Given the description of an element on the screen output the (x, y) to click on. 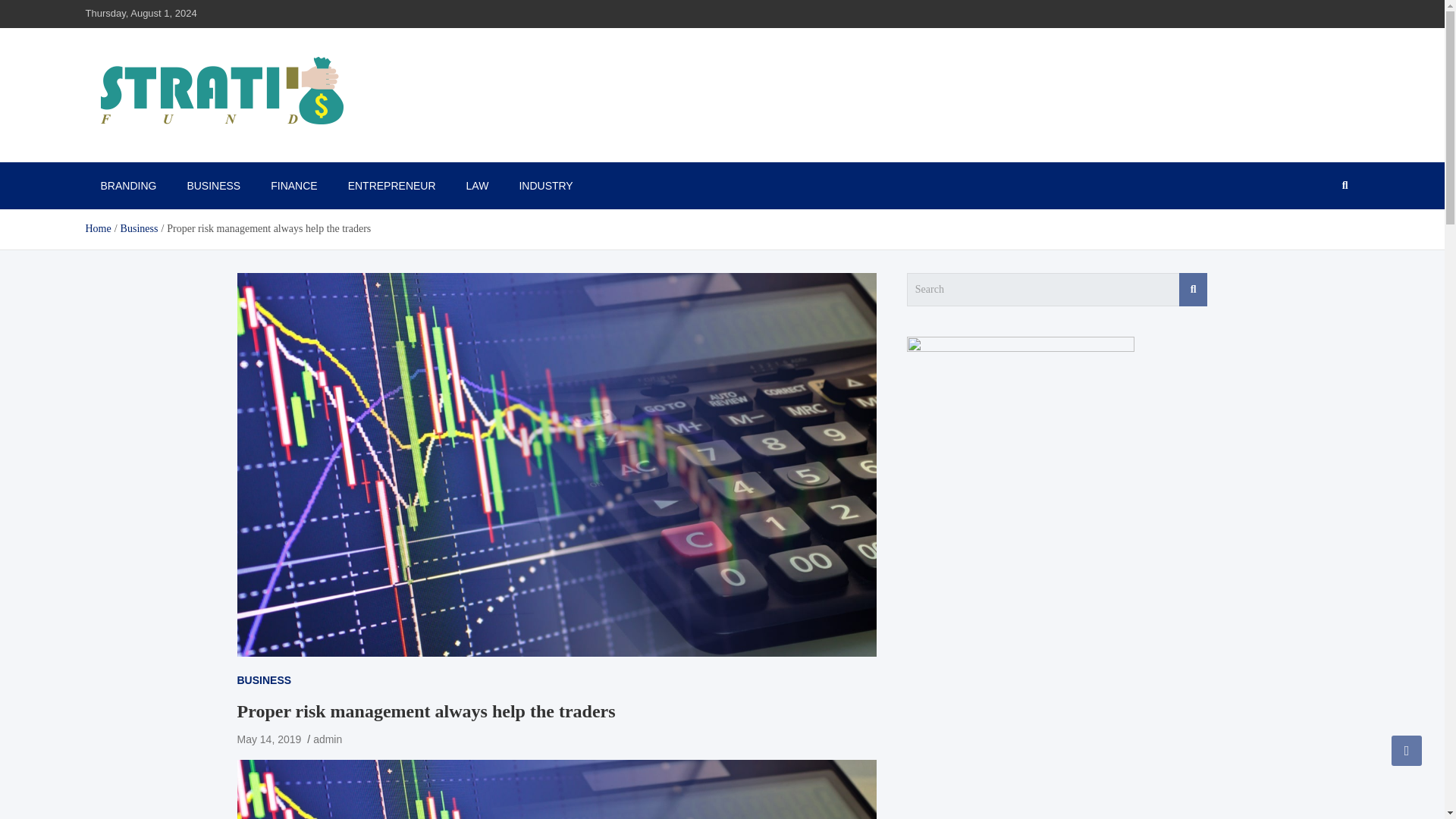
FINANCE (293, 185)
Strati Fund (144, 154)
ENTREPRENEUR (392, 185)
admin (327, 739)
INDUSTRY (545, 185)
BUSINESS (213, 185)
BUSINESS (263, 679)
Business (139, 228)
May 14, 2019 (268, 739)
LAW (477, 185)
Proper risk management always help the traders (268, 739)
BRANDING (127, 185)
Go to Top (1406, 750)
Home (97, 228)
